Given the description of an element on the screen output the (x, y) to click on. 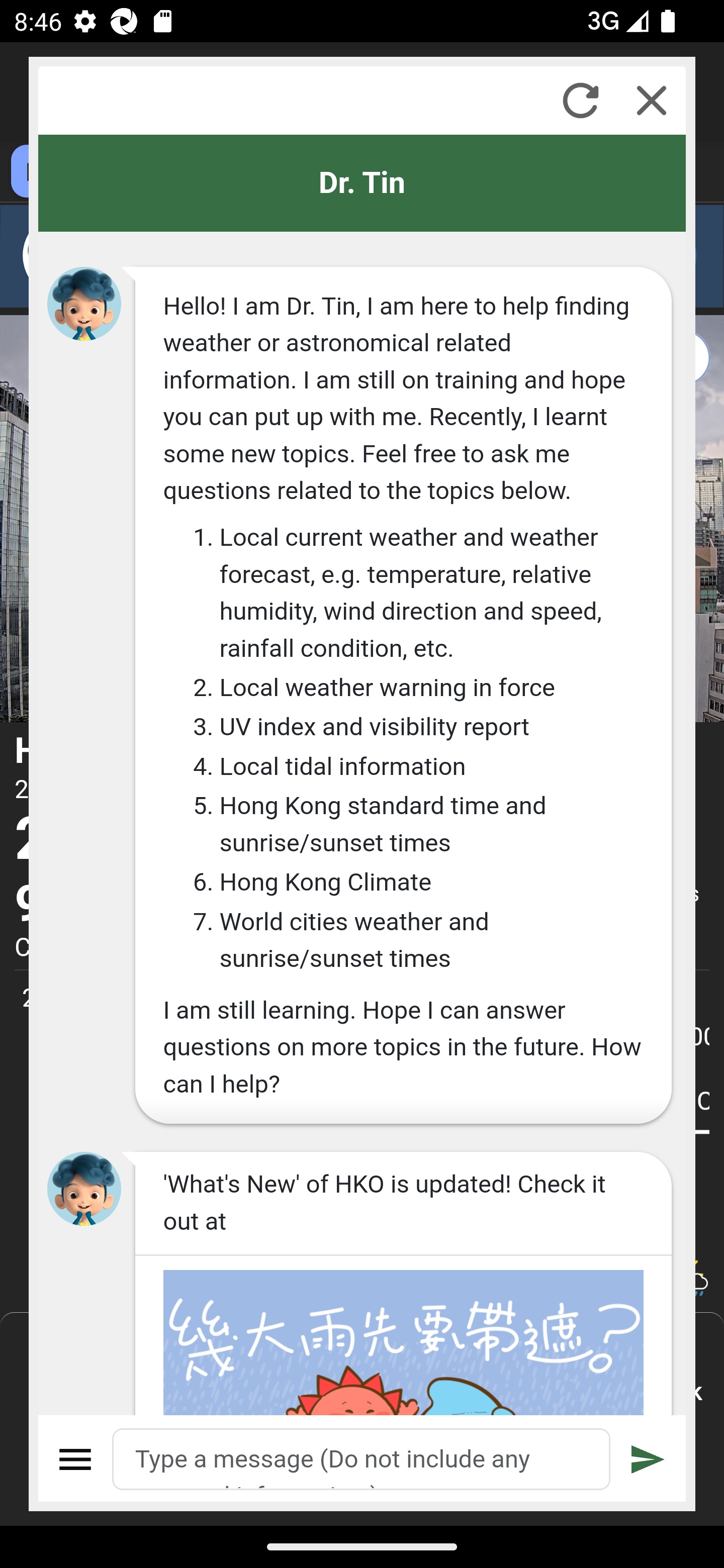
Refresh (580, 100)
Close (651, 100)
Menu (75, 1458)
Submit (648, 1458)
